Given the description of an element on the screen output the (x, y) to click on. 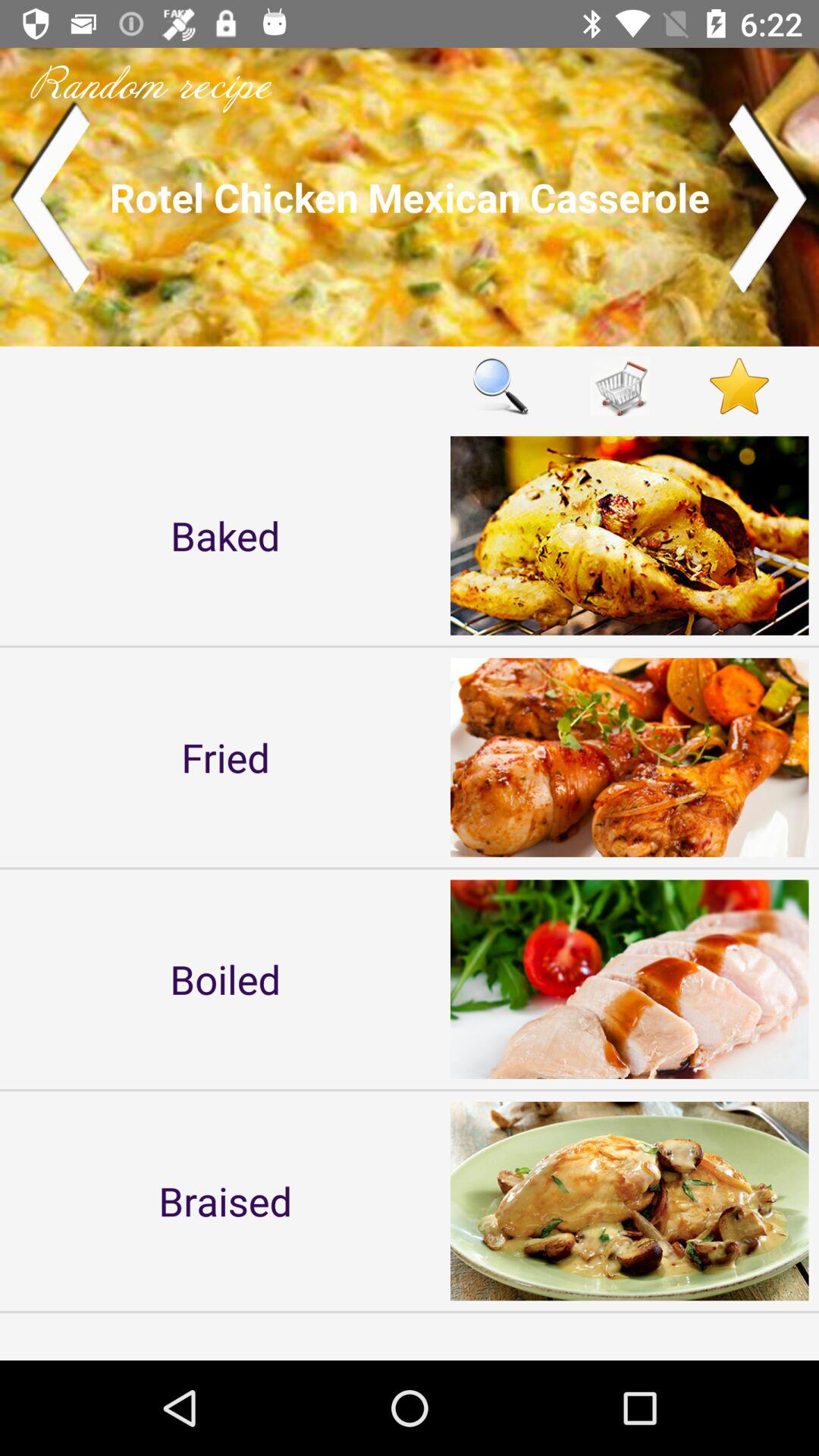
swipe until the braised (225, 1200)
